Given the description of an element on the screen output the (x, y) to click on. 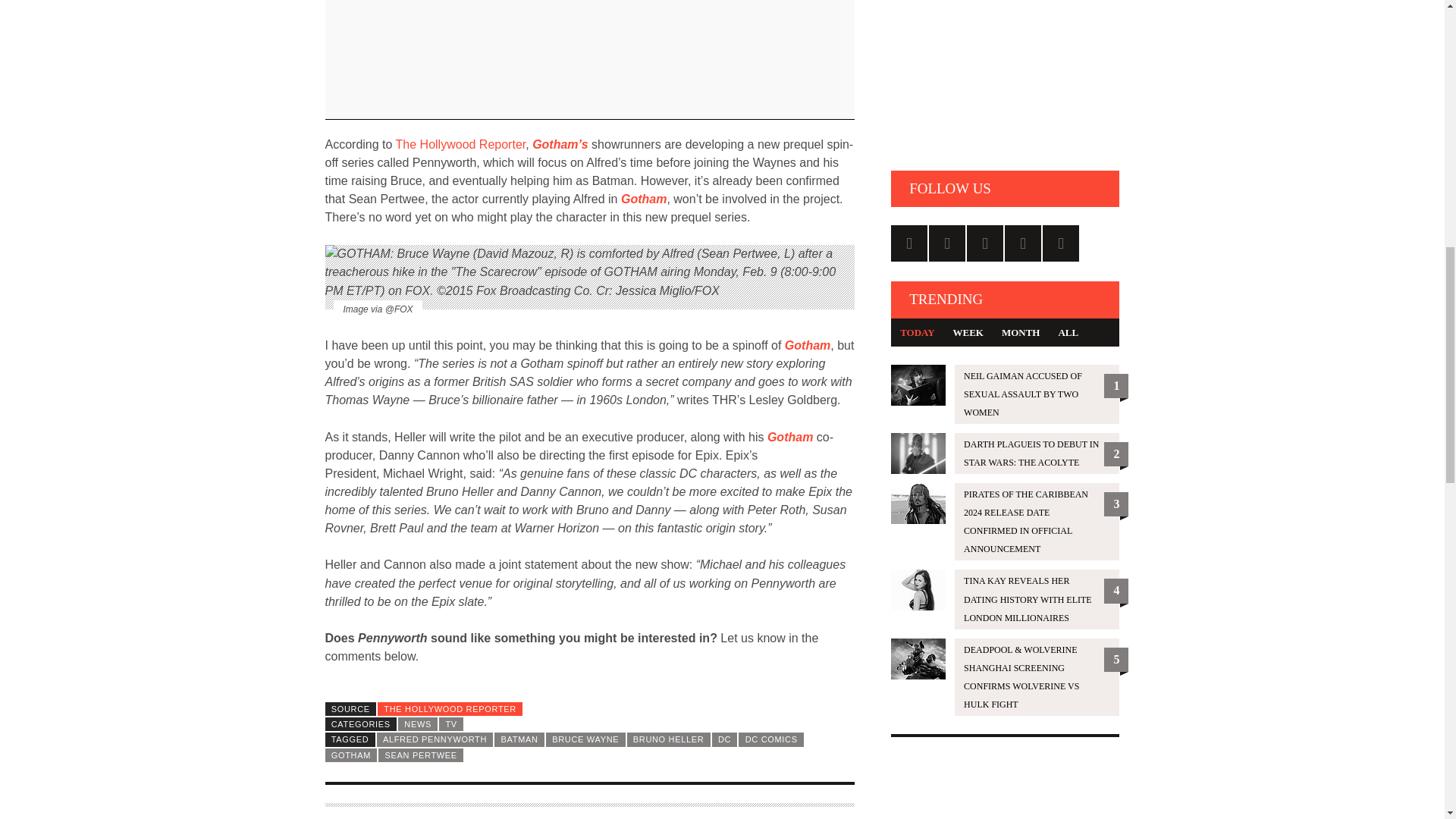
View all posts tagged Gotham (350, 755)
View all posts tagged dc comics (770, 739)
View all posts in TV (451, 724)
View all posts tagged Sean Pertwee (420, 755)
View all posts tagged DC (724, 739)
View all posts tagged batman (519, 739)
View all posts in NEWS (417, 724)
View all posts tagged Bruce Wayne (586, 739)
View all posts tagged Bruno Heller (668, 739)
Neil Gaiman Accused Of Sexual Assault By Two Women (1005, 394)
View all posts tagged Alfred Pennyworth (435, 739)
